Given the description of an element on the screen output the (x, y) to click on. 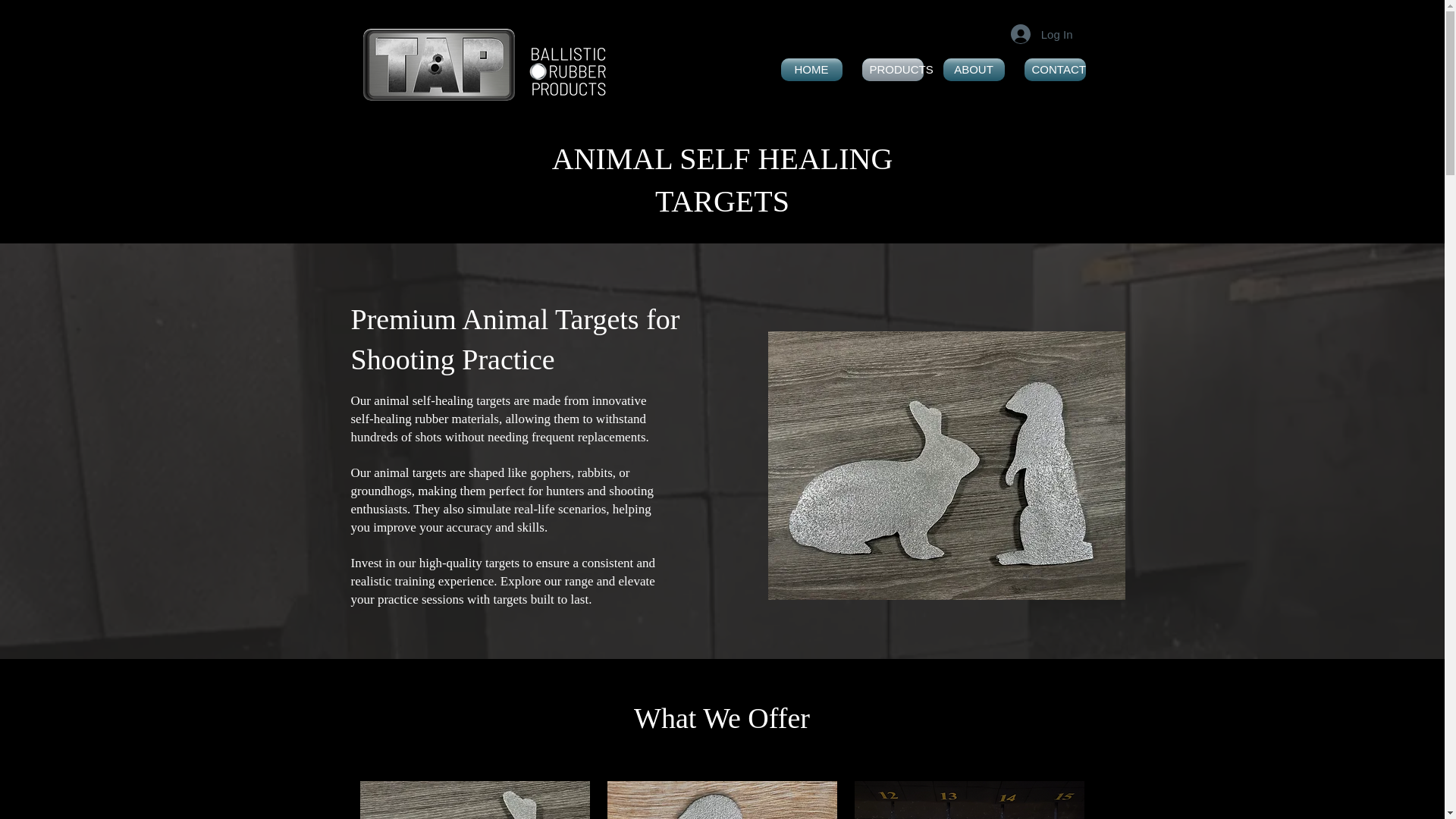
CONTACT (1055, 69)
PRODUCTS (892, 69)
HOME (810, 69)
ABOUT (973, 69)
Log In (1041, 33)
